Given the description of an element on the screen output the (x, y) to click on. 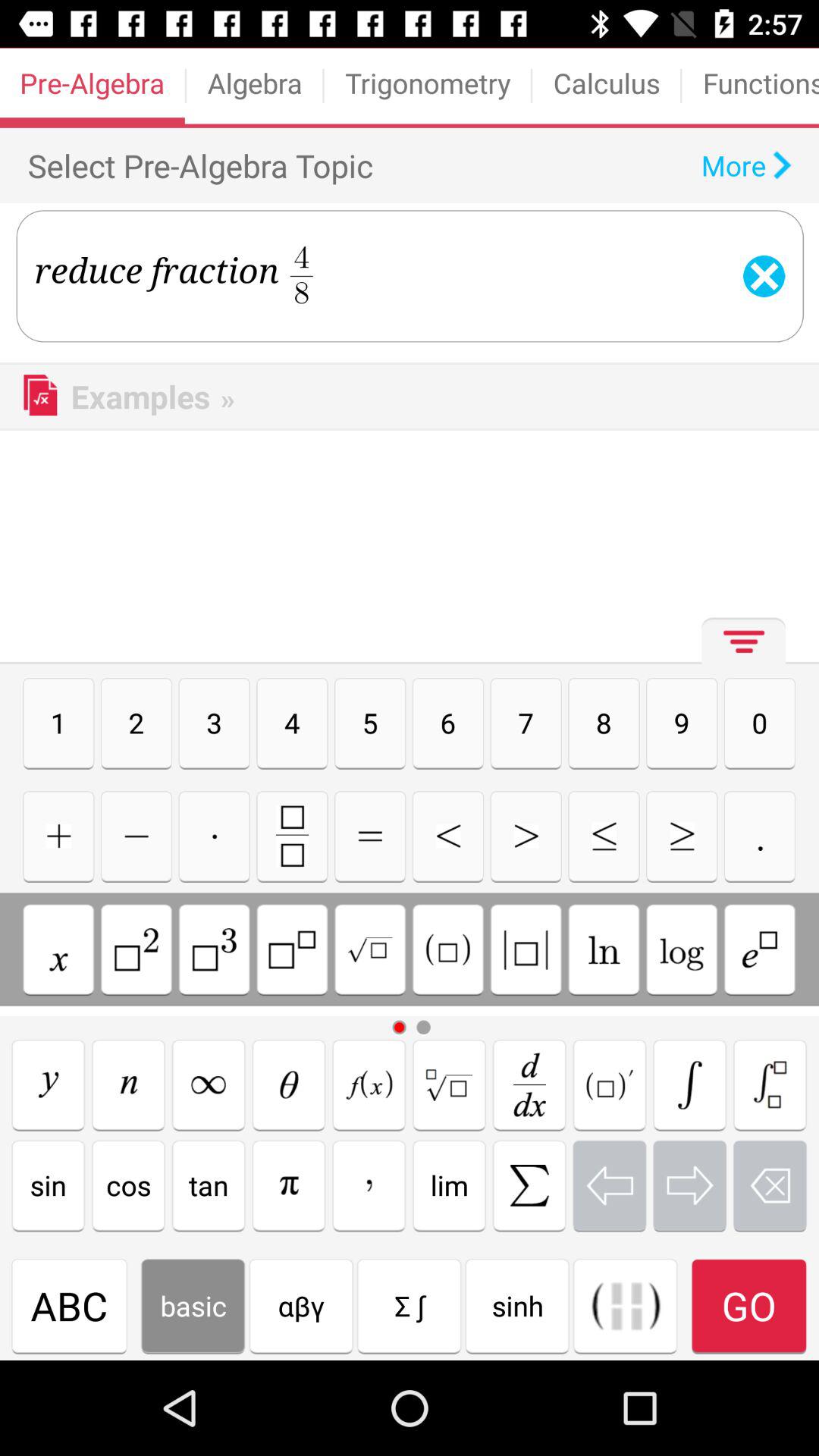
maths using keyboard (369, 1084)
